Given the description of an element on the screen output the (x, y) to click on. 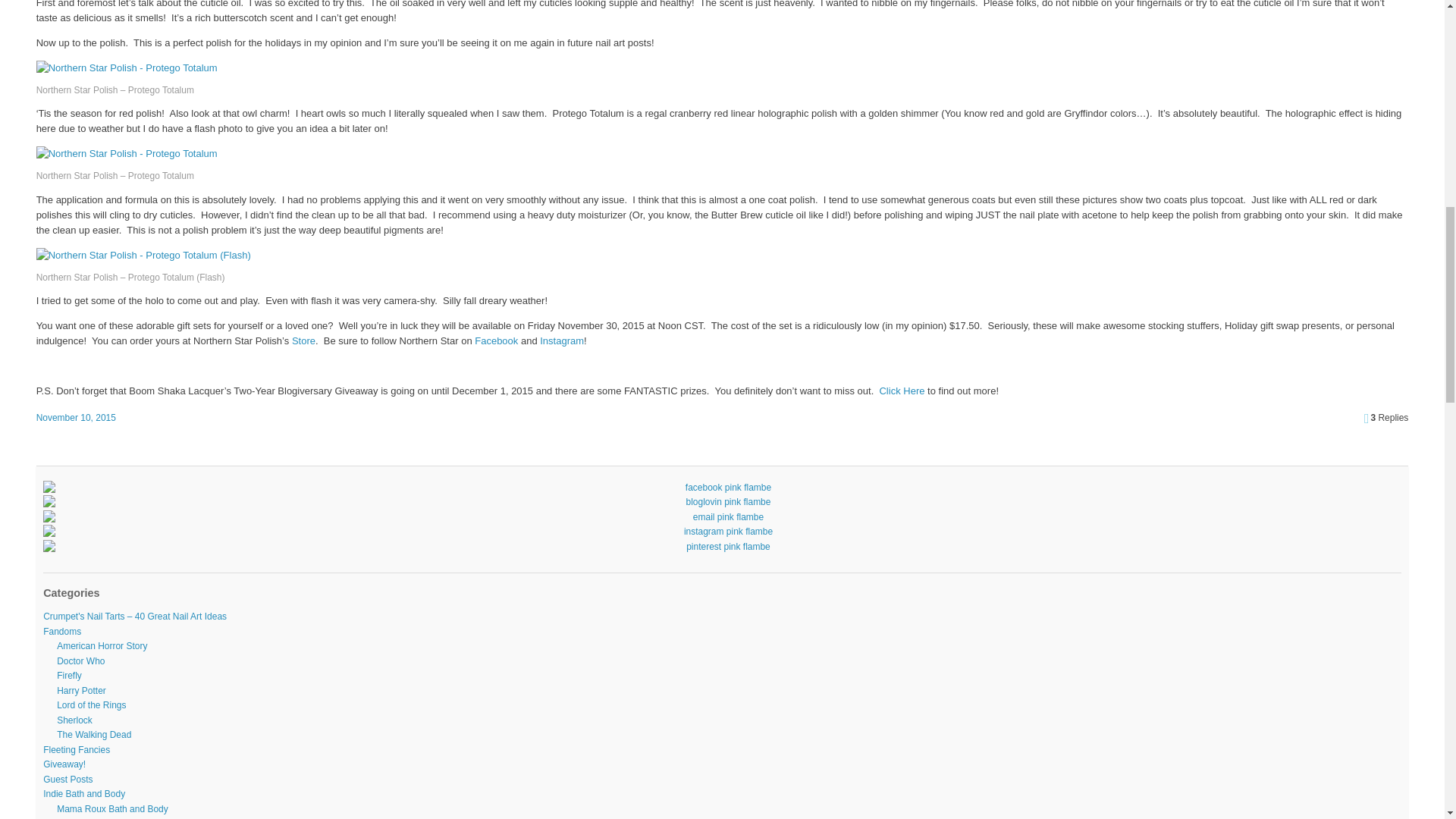
7:14 pm (76, 417)
Harry Potter (81, 690)
Facebook (497, 340)
November 10, 2015 (76, 417)
Instagram (561, 340)
Indie Polish (66, 818)
Guest Posts (68, 778)
Fandoms (62, 631)
Fleeting Fancies (76, 749)
Giveaway! (64, 764)
Firefly (68, 675)
Click Here (901, 390)
Indie Bath and Body (84, 793)
Sherlock (74, 719)
American Horror Story (101, 645)
